Given the description of an element on the screen output the (x, y) to click on. 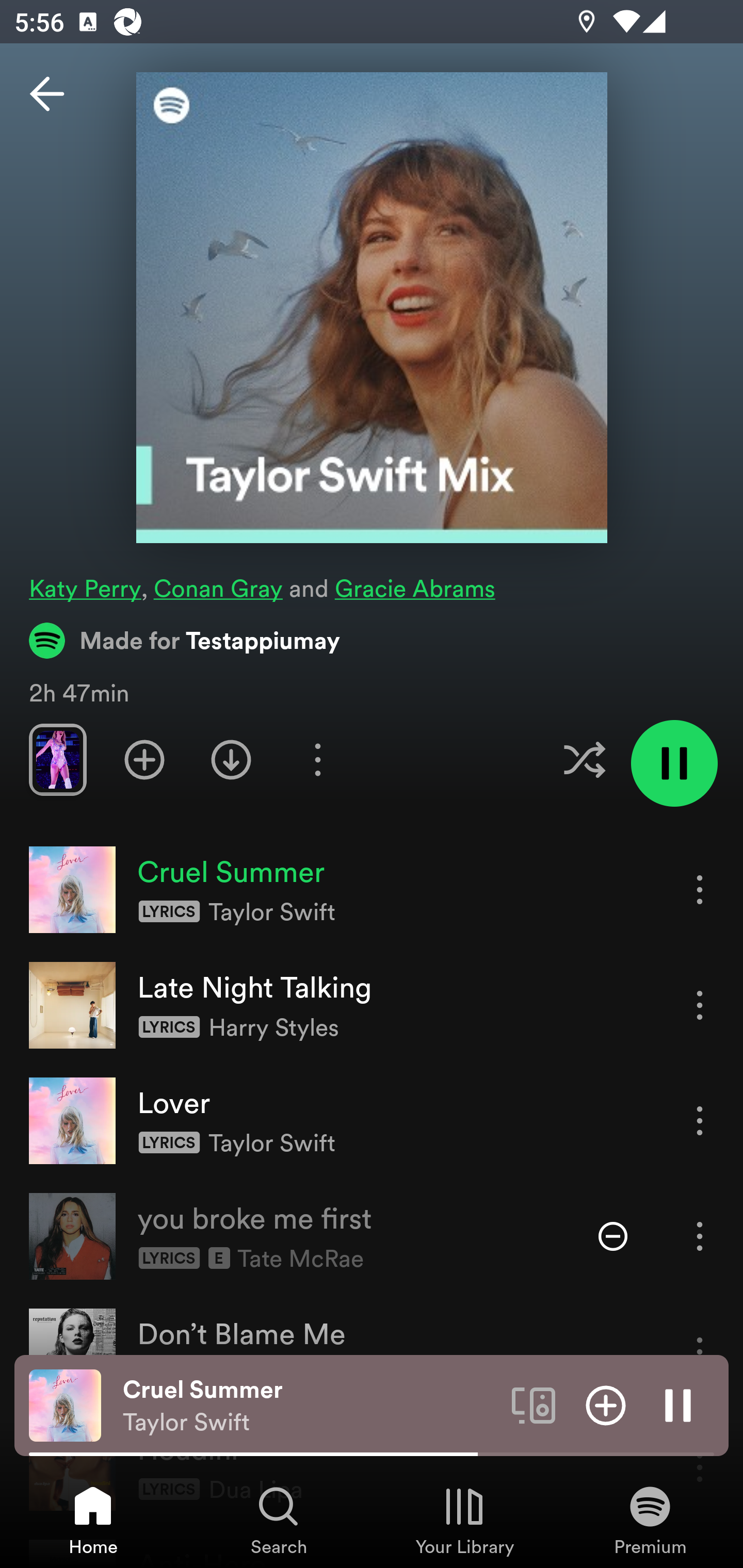
Back (46, 93)
Made for Testappiumay (184, 640)
Add playlist to Your Library (144, 759)
Download (230, 759)
More options for playlist Taylor Swift Mix (317, 759)
Enable shuffle for this playlist (583, 759)
Pause playlist (674, 763)
More options for song Cruel Summer (699, 889)
More options for song Late Night Talking (699, 1004)
More options for song Lover (699, 1120)
Allow to play this song (612, 1236)
More options for song you broke me first (699, 1236)
Cruel Summer Taylor Swift (309, 1405)
The cover art of the currently playing track (64, 1404)
Connect to a device. Opens the devices menu (533, 1404)
Add item (605, 1404)
Pause (677, 1404)
Home, Tab 1 of 4 Home Home (92, 1519)
Search, Tab 2 of 4 Search Search (278, 1519)
Your Library, Tab 3 of 4 Your Library Your Library (464, 1519)
Premium, Tab 4 of 4 Premium Premium (650, 1519)
